Given the description of an element on the screen output the (x, y) to click on. 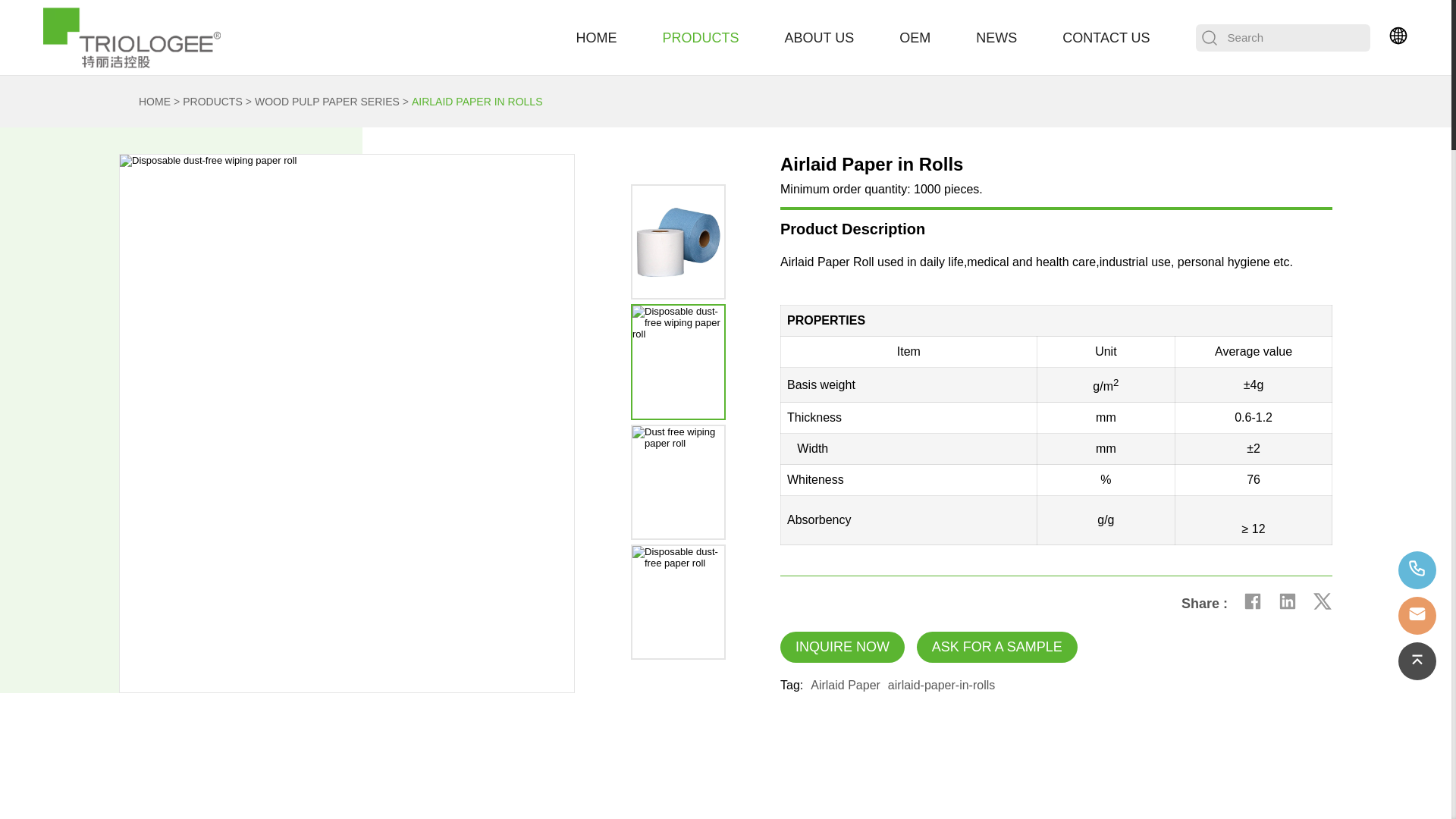
WOOD PULP PAPER SERIES (333, 101)
HOME (151, 101)
PRODUCTS (218, 101)
search (1209, 37)
CONTACT US (1106, 38)
airlaid-paper-in-rolls (941, 685)
PRODUCTS (700, 38)
ABOUT US (819, 38)
Airlaid Paper (845, 685)
AIRLAID PAPER IN ROLLS (476, 101)
